Given the description of an element on the screen output the (x, y) to click on. 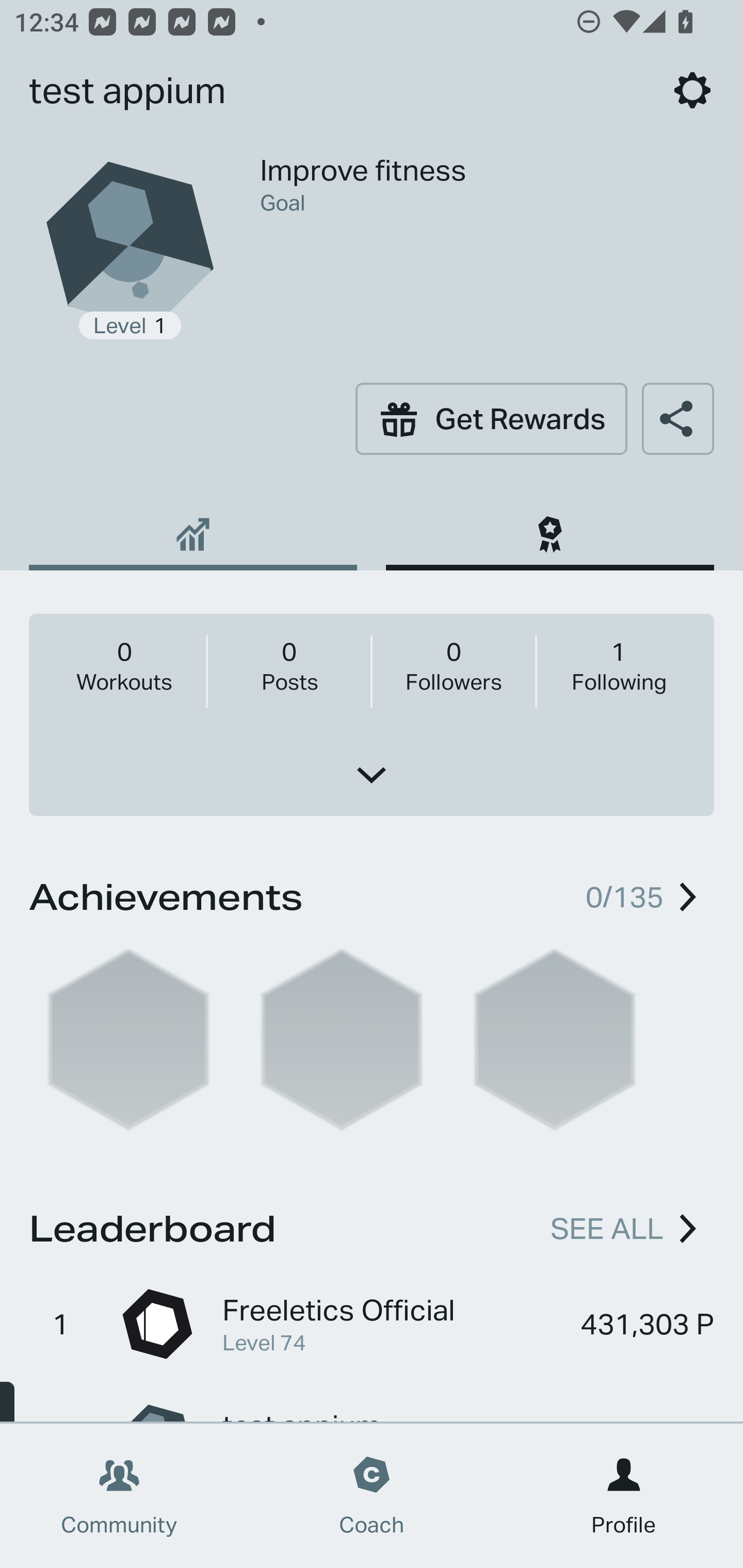
Settings (692, 90)
Get Rewards (491, 418)
Daily Athlete Score (192, 527)
Hall of Fame (549, 527)
0 Workouts (124, 665)
0 Posts (289, 665)
0 Followers (453, 665)
1 Following (618, 665)
Achievements 0/135 (371, 893)
Leaderboard SEE ALL (371, 1225)
1 Freeletics Official Level 74 431,303 P (371, 1323)
Community (119, 1495)
Coach (371, 1495)
